Given the description of an element on the screen output the (x, y) to click on. 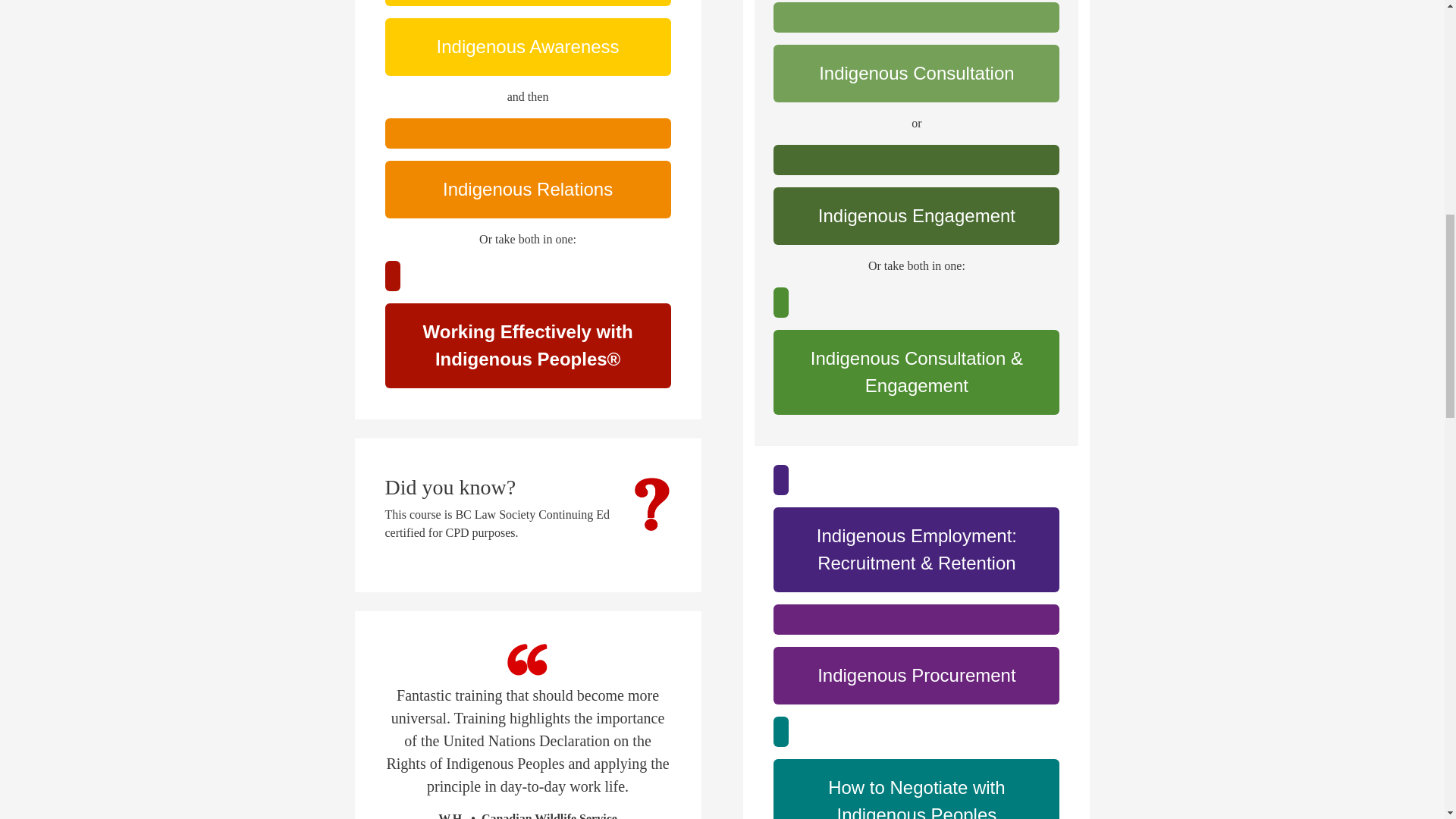
Working Effectively with Indigenous Peoples (528, 345)
Indigenous Consultation (916, 17)
Indigenous Awareness (528, 47)
Indigenous Consultation (916, 73)
Indigenous Relations (528, 189)
Indigenous Procurement (916, 675)
Indigenous Engagement (916, 159)
Indigenous Relations (528, 132)
Indigenous Awareness (528, 2)
Indigenous Procurement (916, 619)
